Given the description of an element on the screen output the (x, y) to click on. 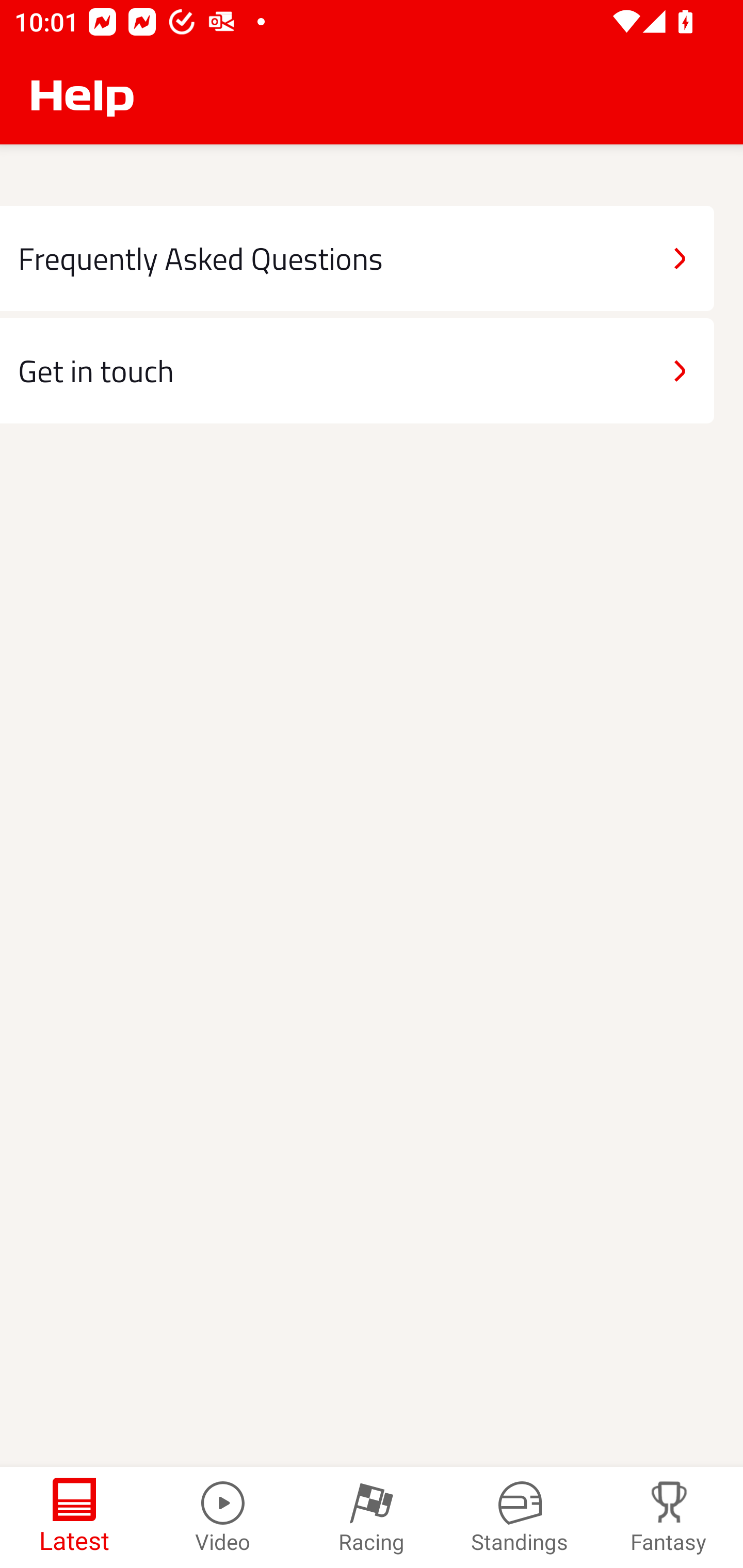
Frequently Asked Questions (357, 257)
Get in touch (357, 370)
Video (222, 1517)
Racing (371, 1517)
Standings (519, 1517)
Fantasy (668, 1517)
